Given the description of an element on the screen output the (x, y) to click on. 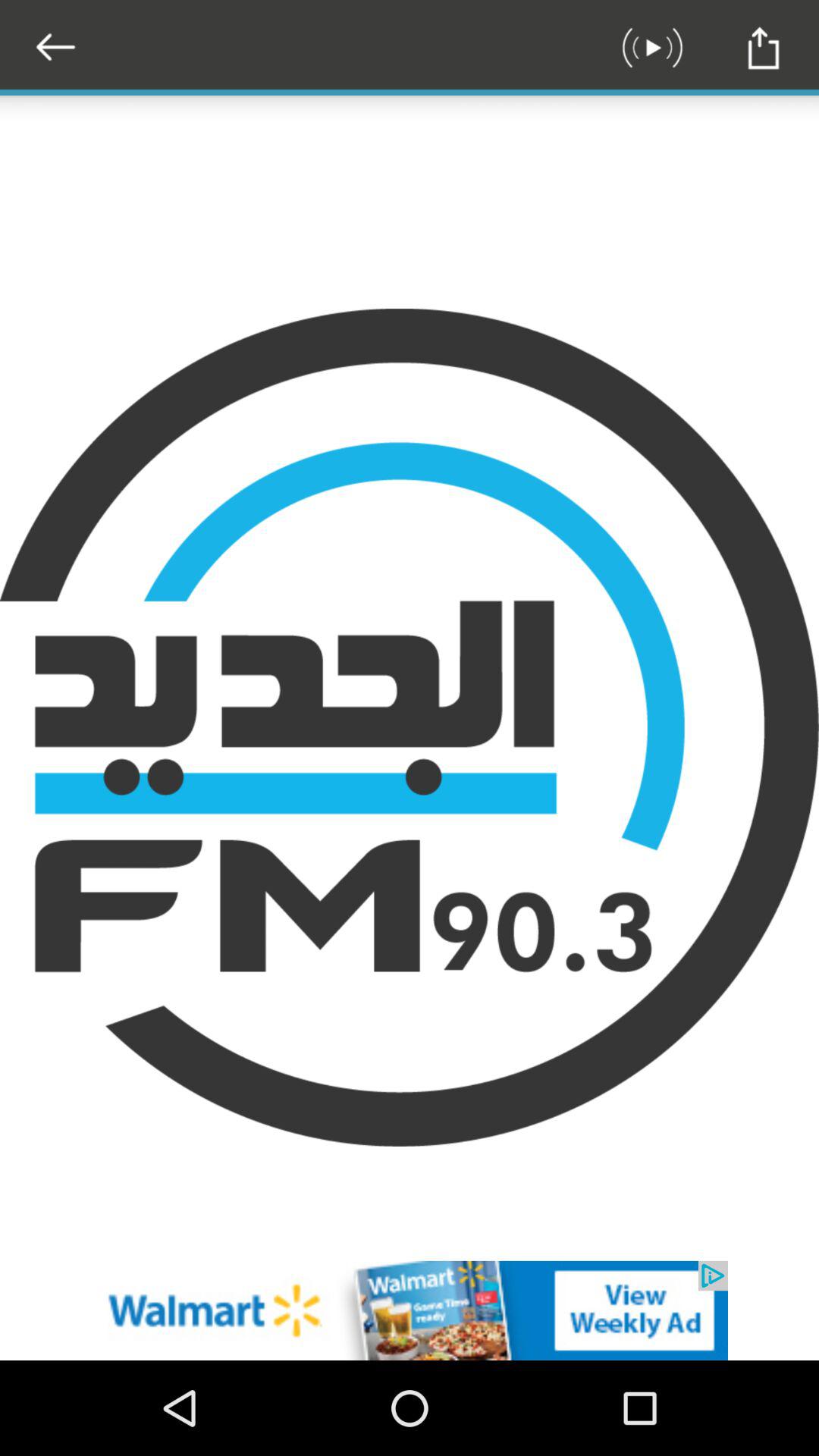
open advertisement (409, 1310)
